Given the description of an element on the screen output the (x, y) to click on. 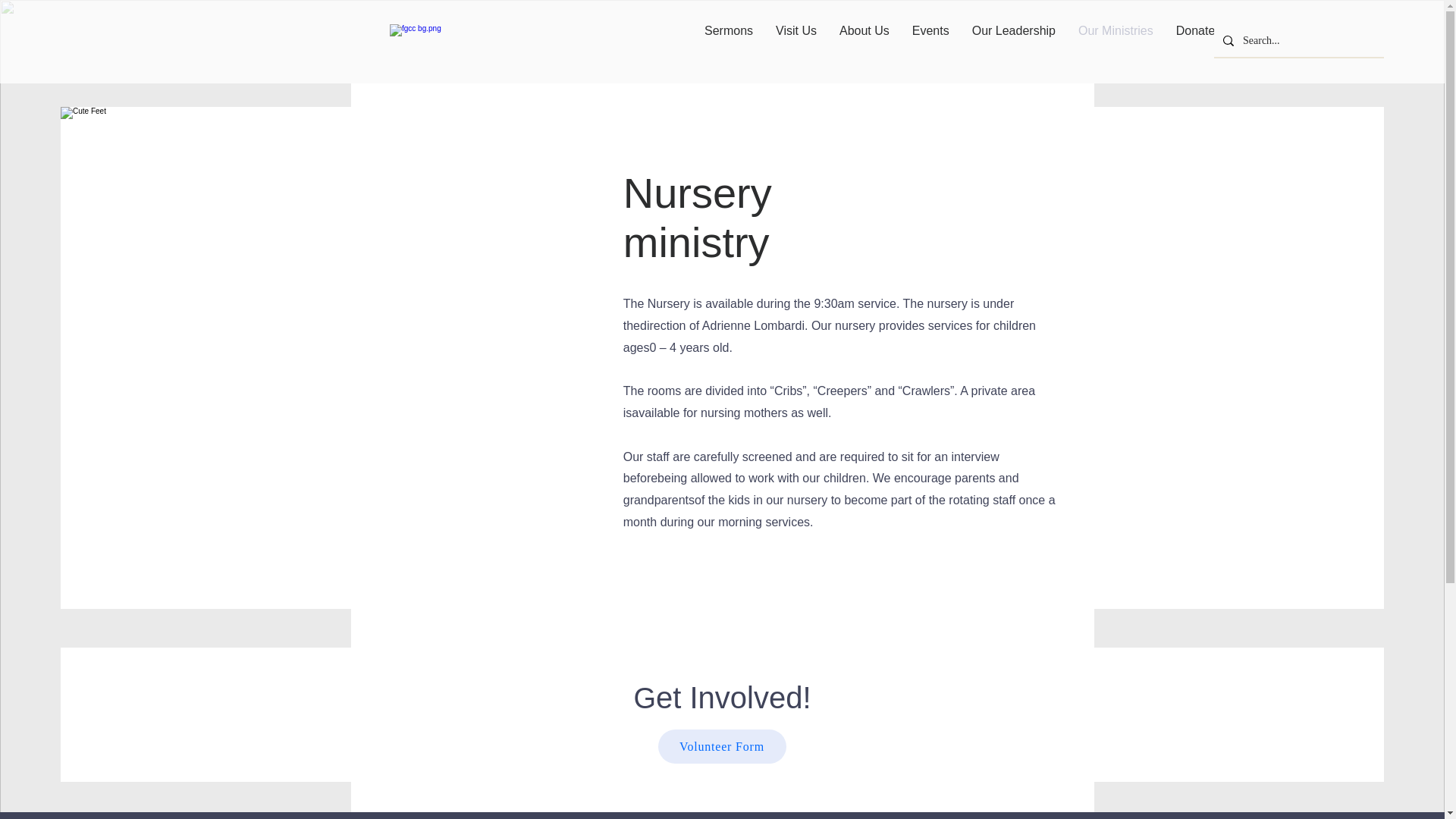
Donate (1195, 41)
About Us (864, 41)
Sermons (728, 41)
Events (930, 41)
Volunteer Form (722, 746)
Visit Us (796, 41)
Our Ministries (1115, 41)
Our Leadership (1013, 41)
